Given the description of an element on the screen output the (x, y) to click on. 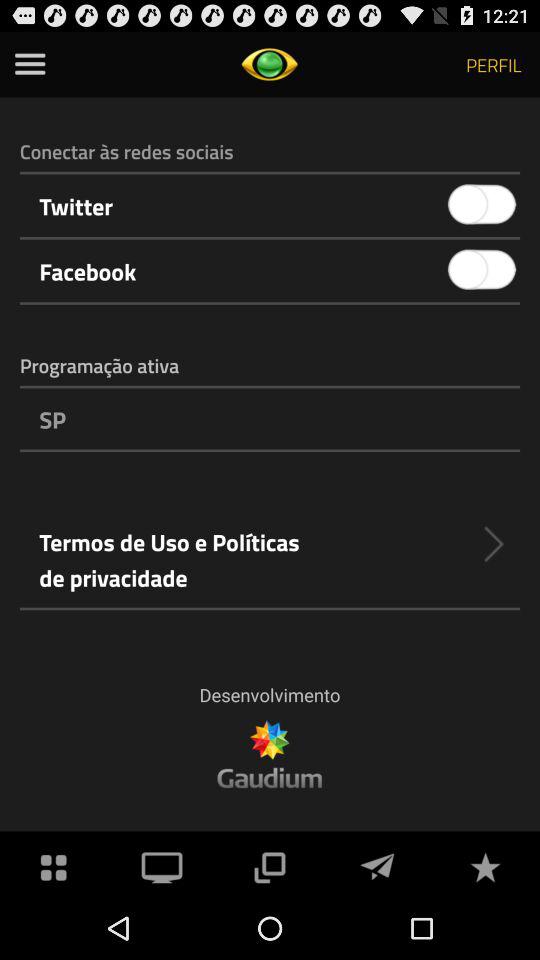
favorites (485, 865)
